Given the description of an element on the screen output the (x, y) to click on. 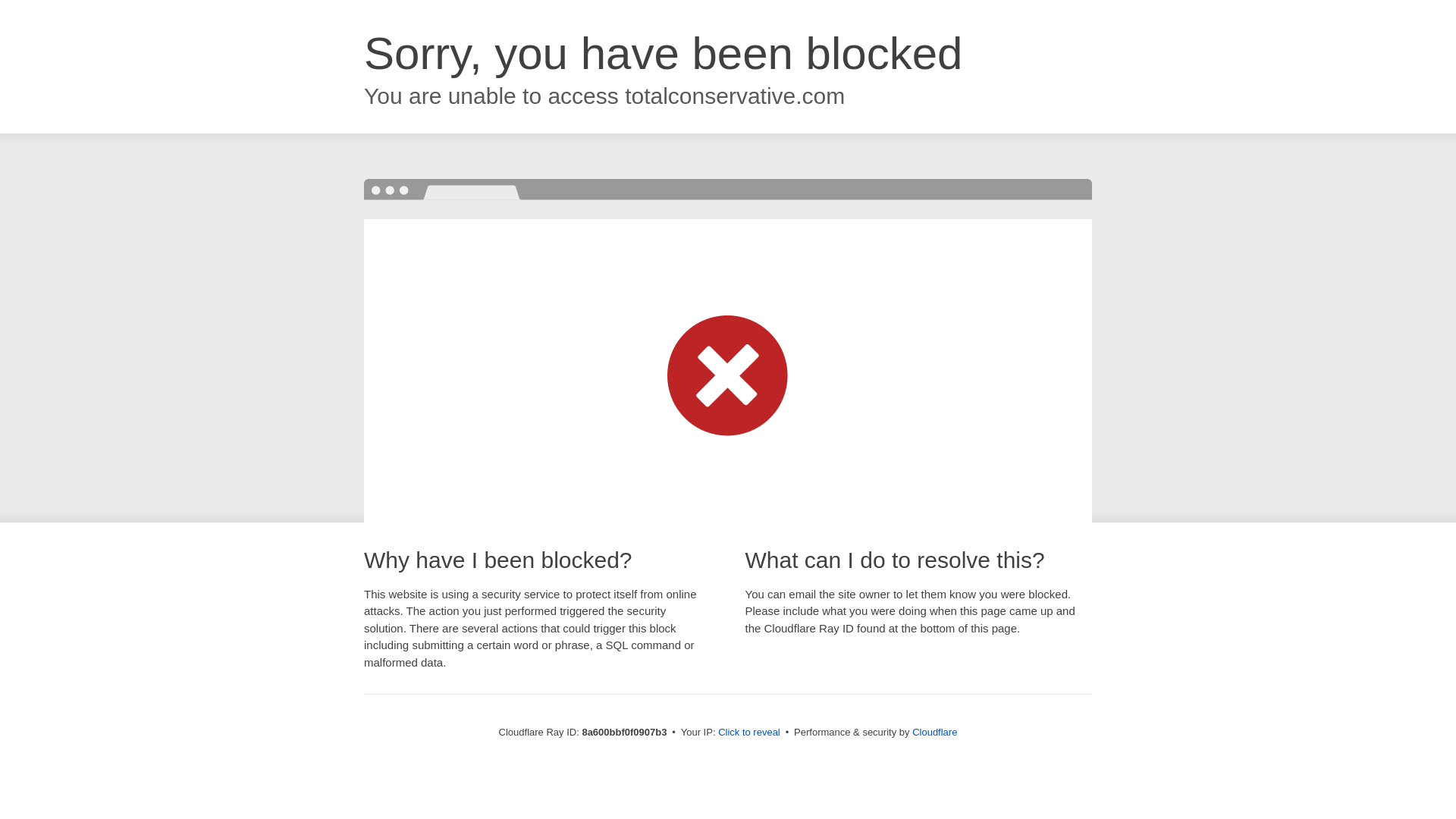
Cloudflare (934, 731)
Click to reveal (748, 732)
